Given the description of an element on the screen output the (x, y) to click on. 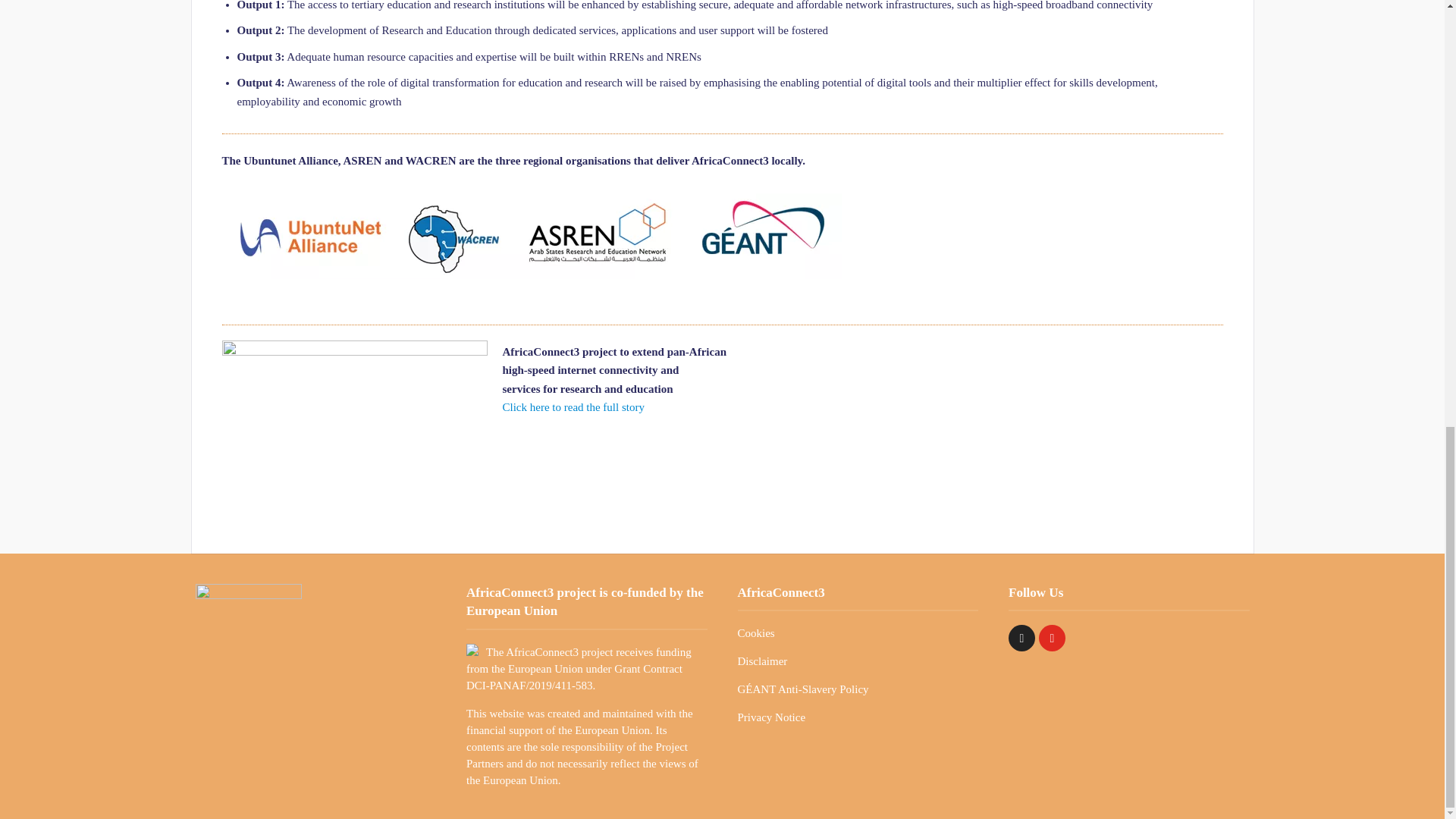
Cookies (755, 633)
Privacy Notice (770, 717)
YouTube (1052, 637)
Disclaimer (761, 661)
